Given the description of an element on the screen output the (x, y) to click on. 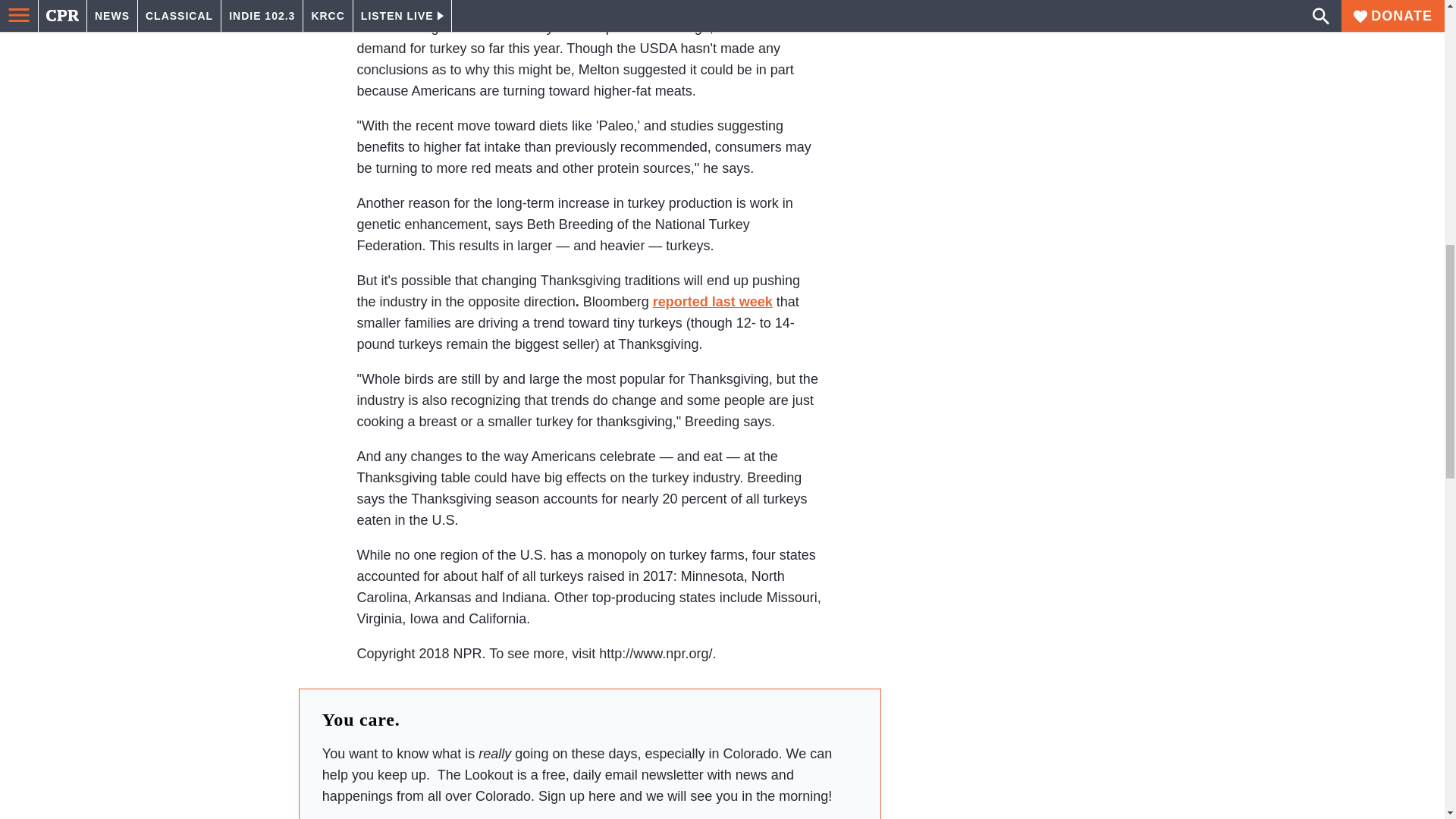
newsArticleSignup (589, 812)
